Given the description of an element on the screen output the (x, y) to click on. 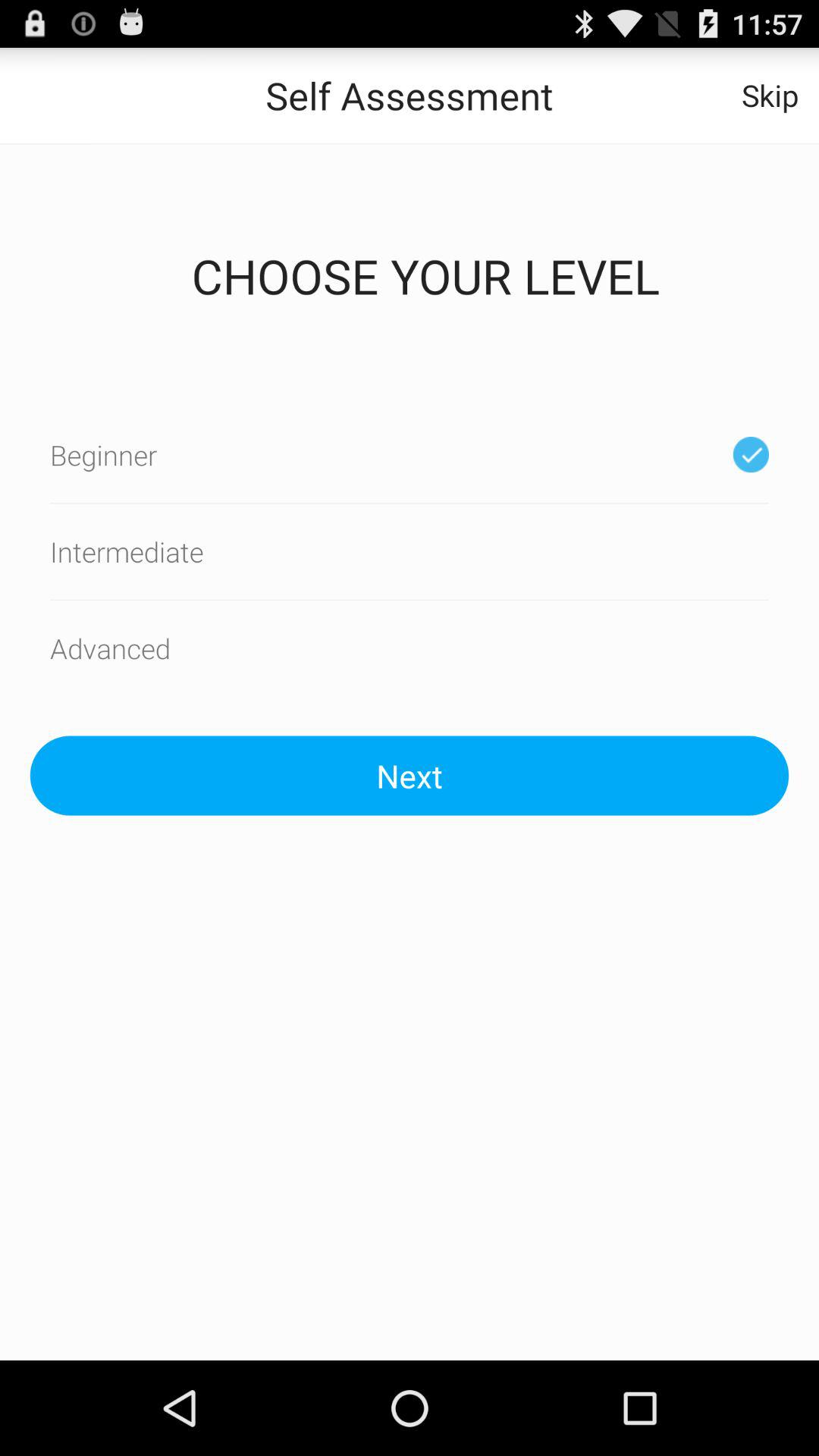
flip until skip icon (770, 95)
